Given the description of an element on the screen output the (x, y) to click on. 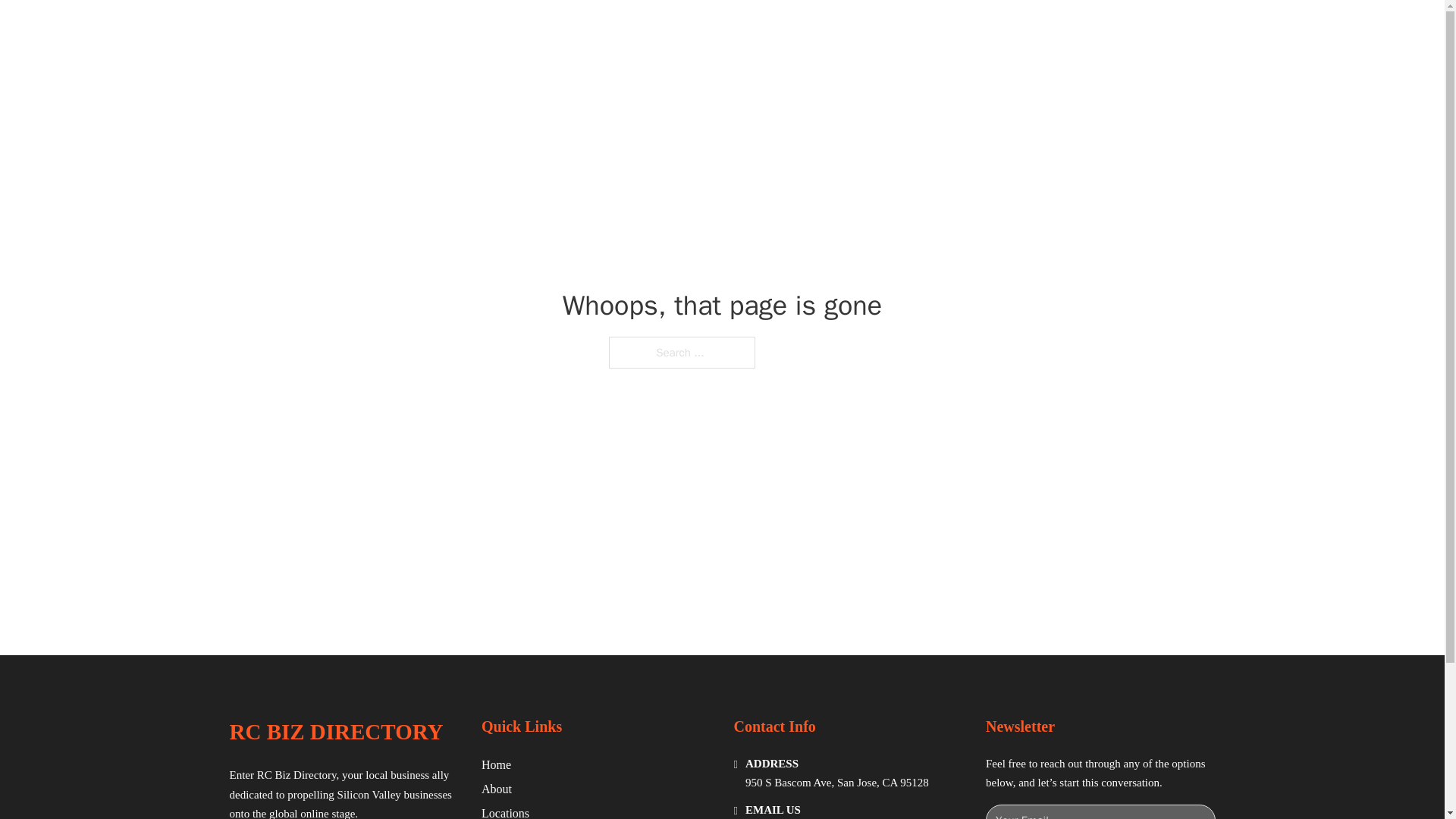
About (496, 788)
RC BIZ DIRECTORY (335, 732)
LOCATIONS (990, 29)
Locations (505, 811)
HOME (919, 29)
RC BIZ DIRECTORY (404, 28)
Home (496, 764)
